Given the description of an element on the screen output the (x, y) to click on. 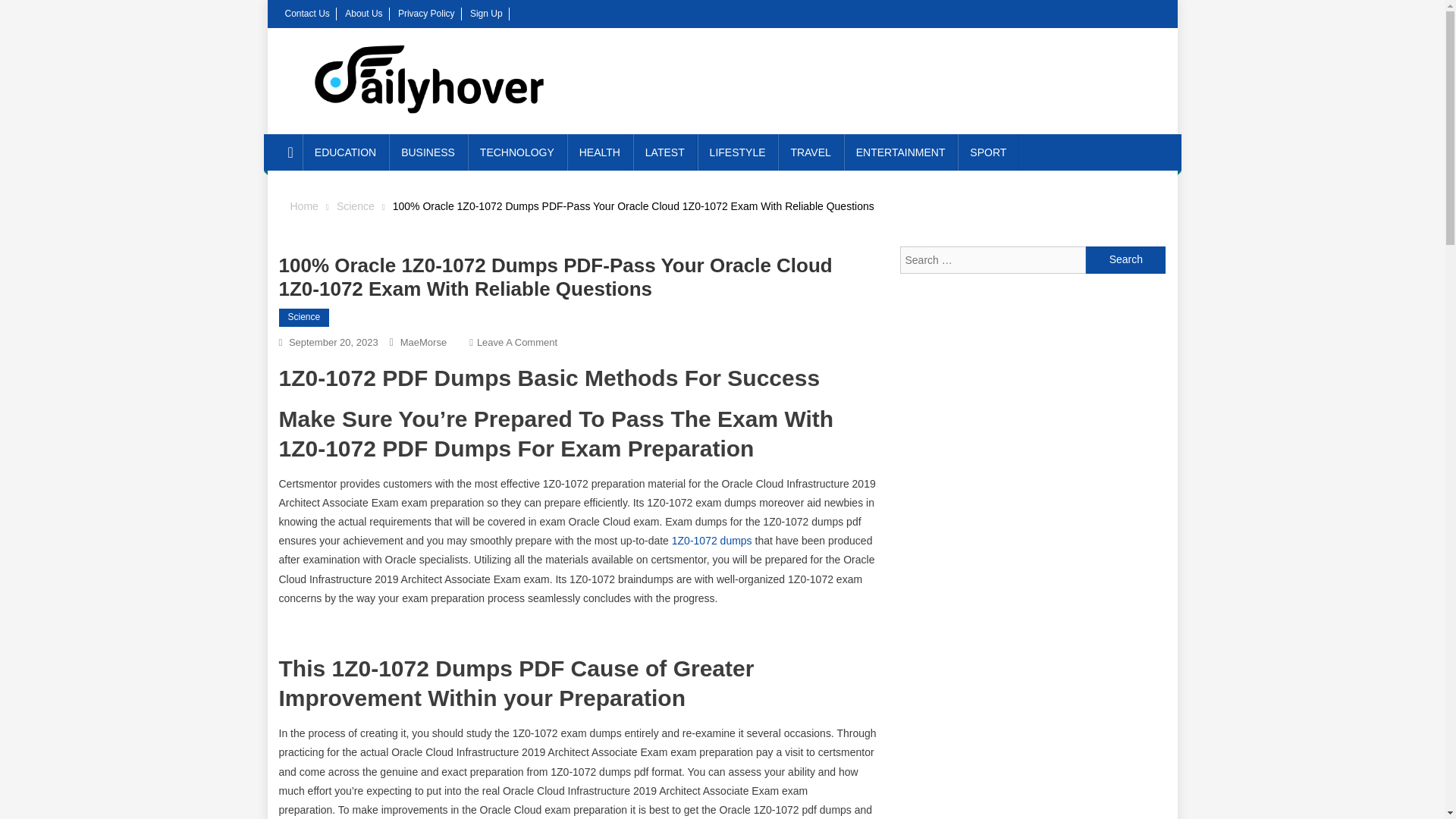
TECHNOLOGY (516, 152)
SPORT (987, 152)
BUSINESS (427, 152)
Science (304, 317)
LATEST (665, 152)
Science (355, 205)
About Us (363, 13)
ENTERTAINMENT (901, 152)
TRAVEL (810, 152)
HEALTH (599, 152)
Privacy Policy (425, 13)
LIFESTYLE (737, 152)
1Z0-1072 dumps (711, 540)
MaeMorse (423, 342)
Search (1126, 259)
